Given the description of an element on the screen output the (x, y) to click on. 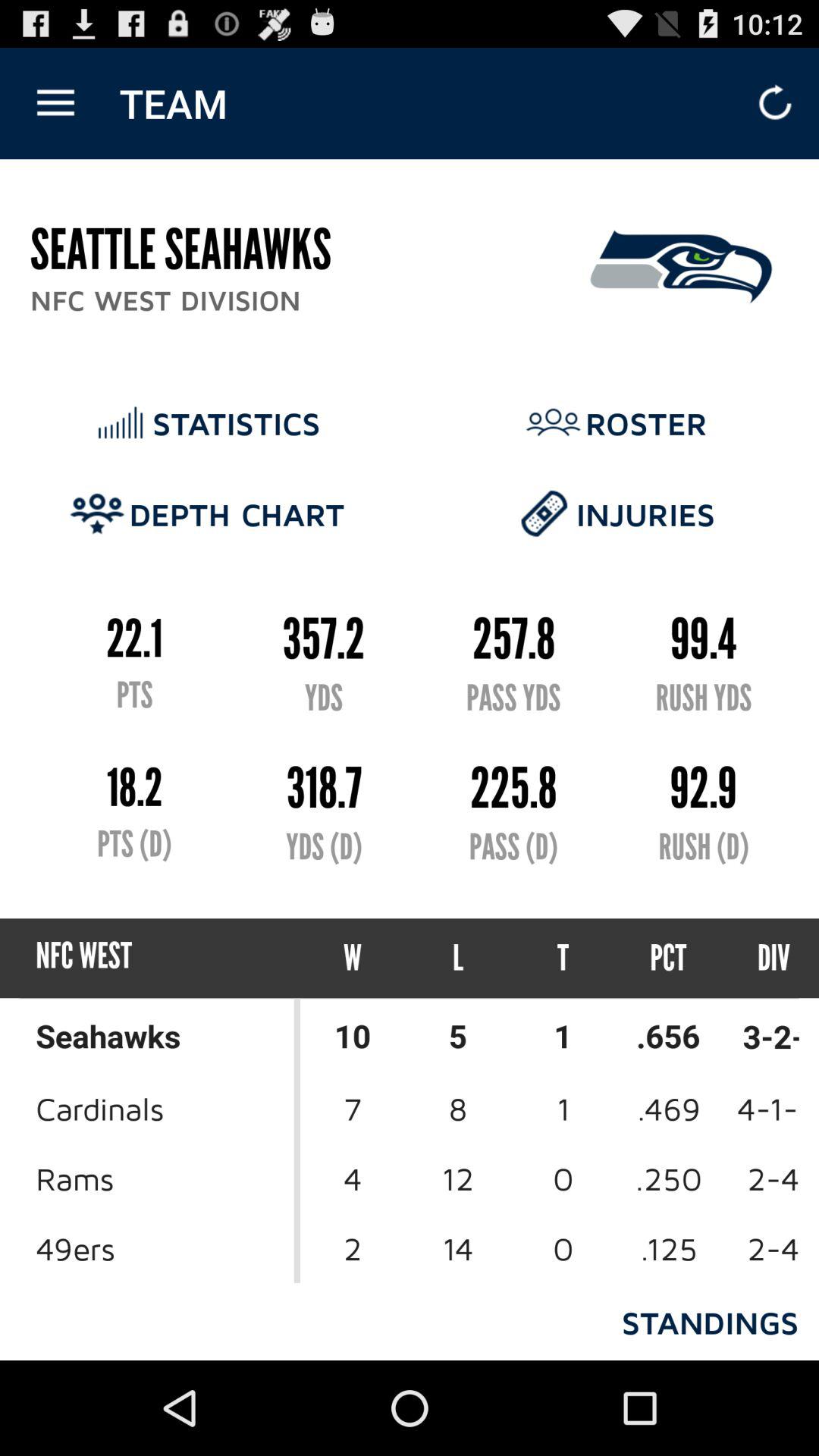
click icon next to w (457, 958)
